Given the description of an element on the screen output the (x, y) to click on. 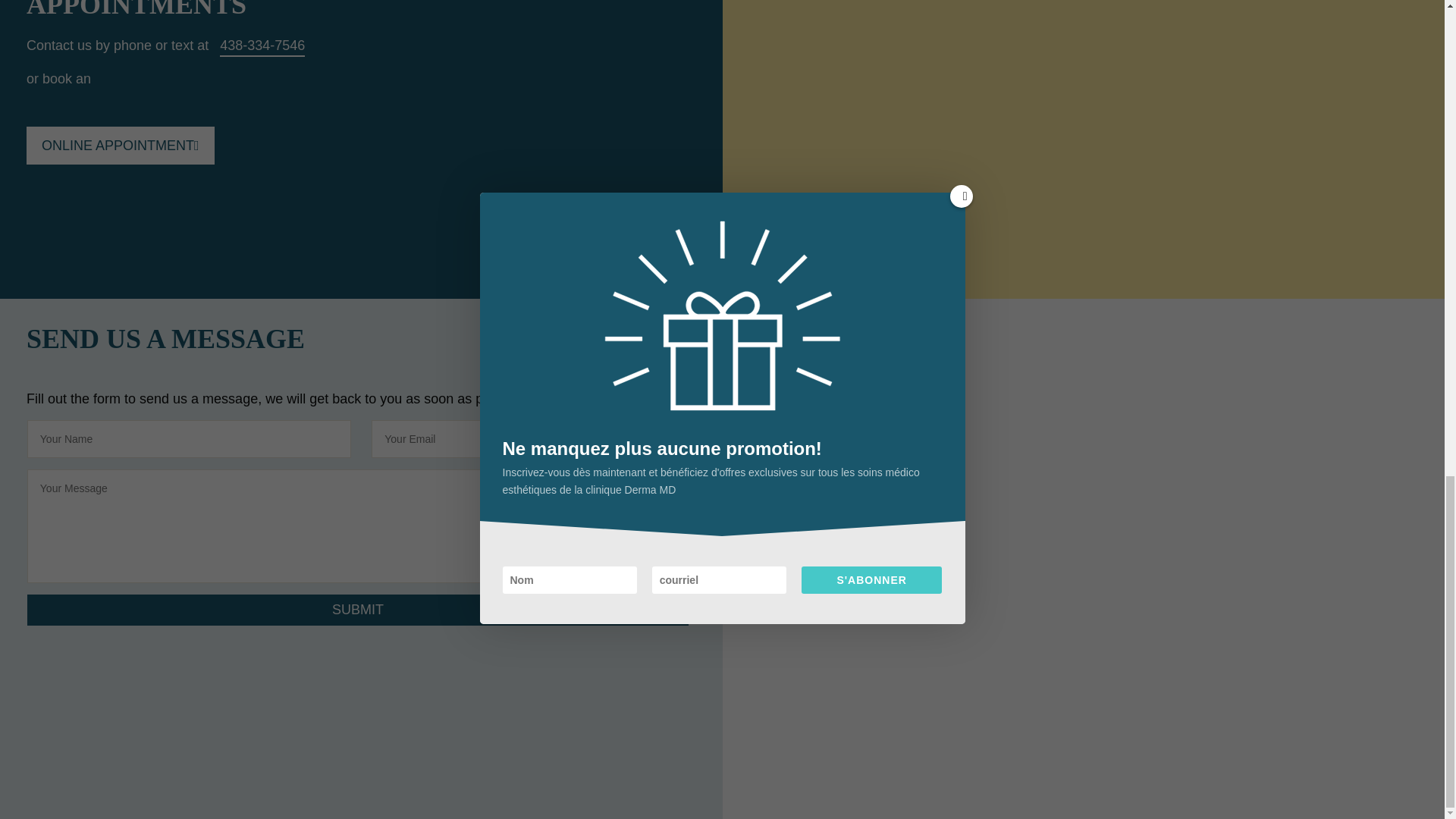
438-334-7546 (261, 45)
Rendez-Vous (120, 145)
